Given the description of an element on the screen output the (x, y) to click on. 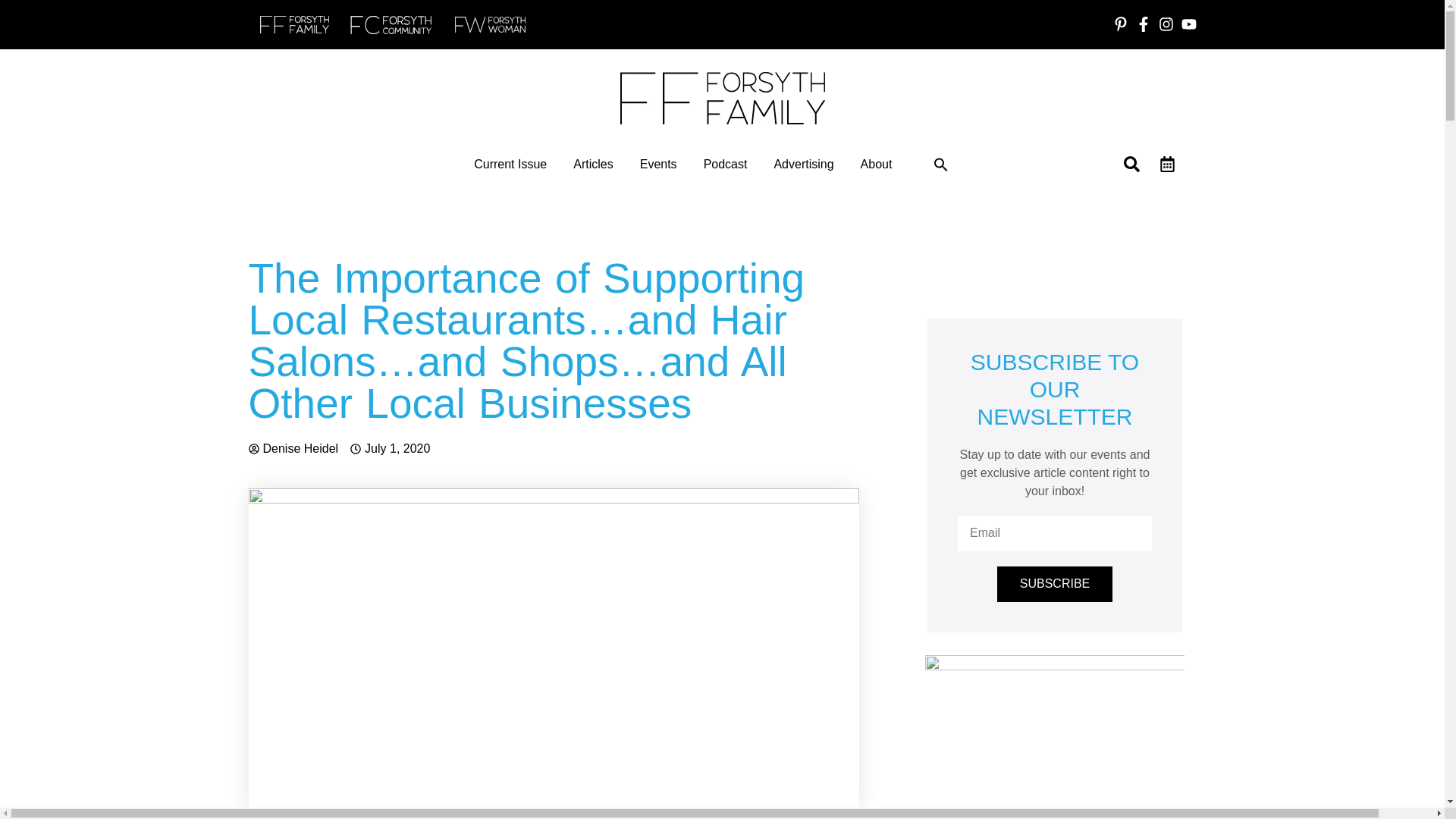
Events (658, 164)
Advertising (802, 164)
Podcast (725, 164)
About (876, 164)
Articles (592, 164)
Current Issue (510, 164)
